Given the description of an element on the screen output the (x, y) to click on. 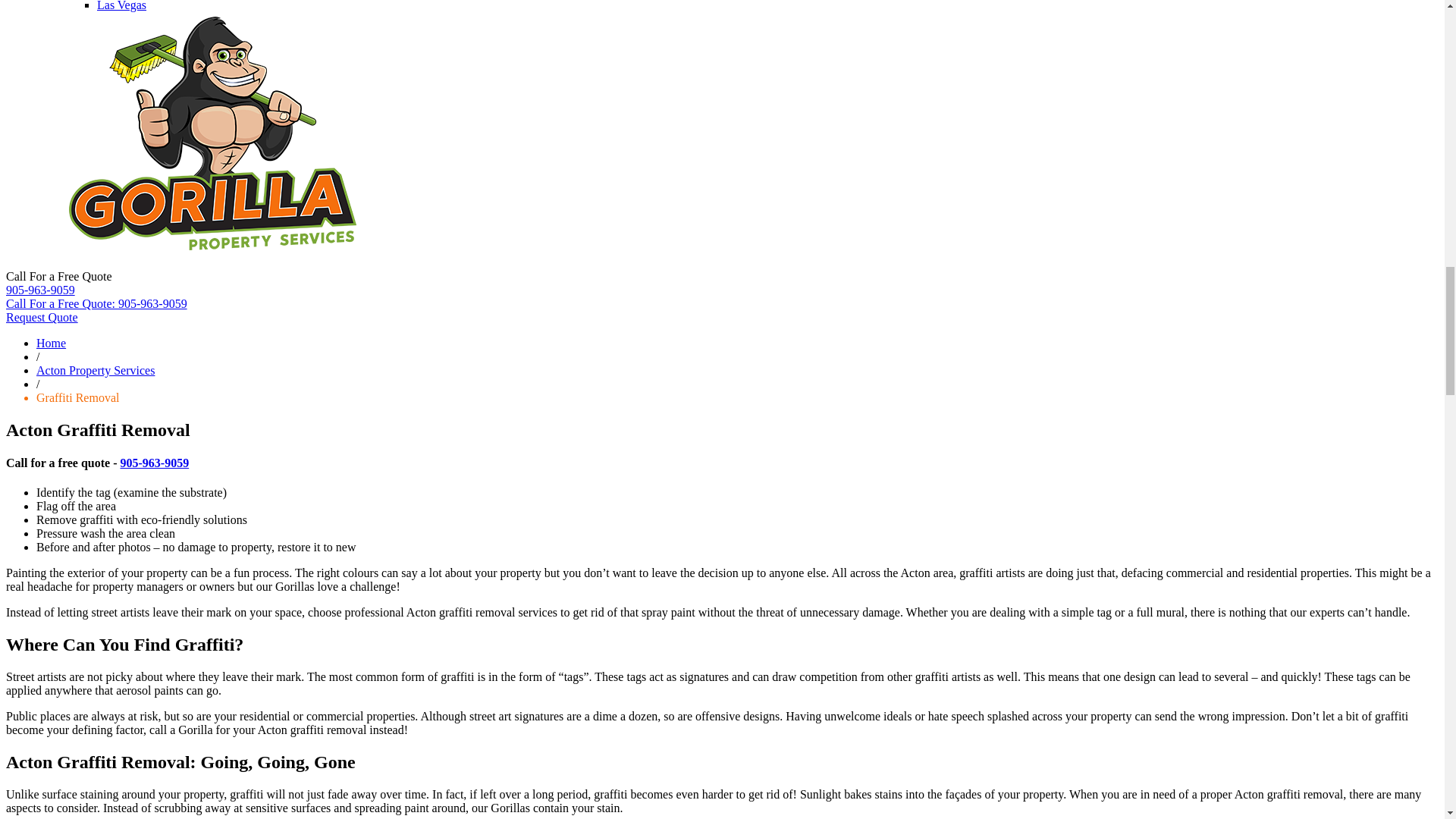
Home (50, 342)
Services (95, 369)
